Given the description of an element on the screen output the (x, y) to click on. 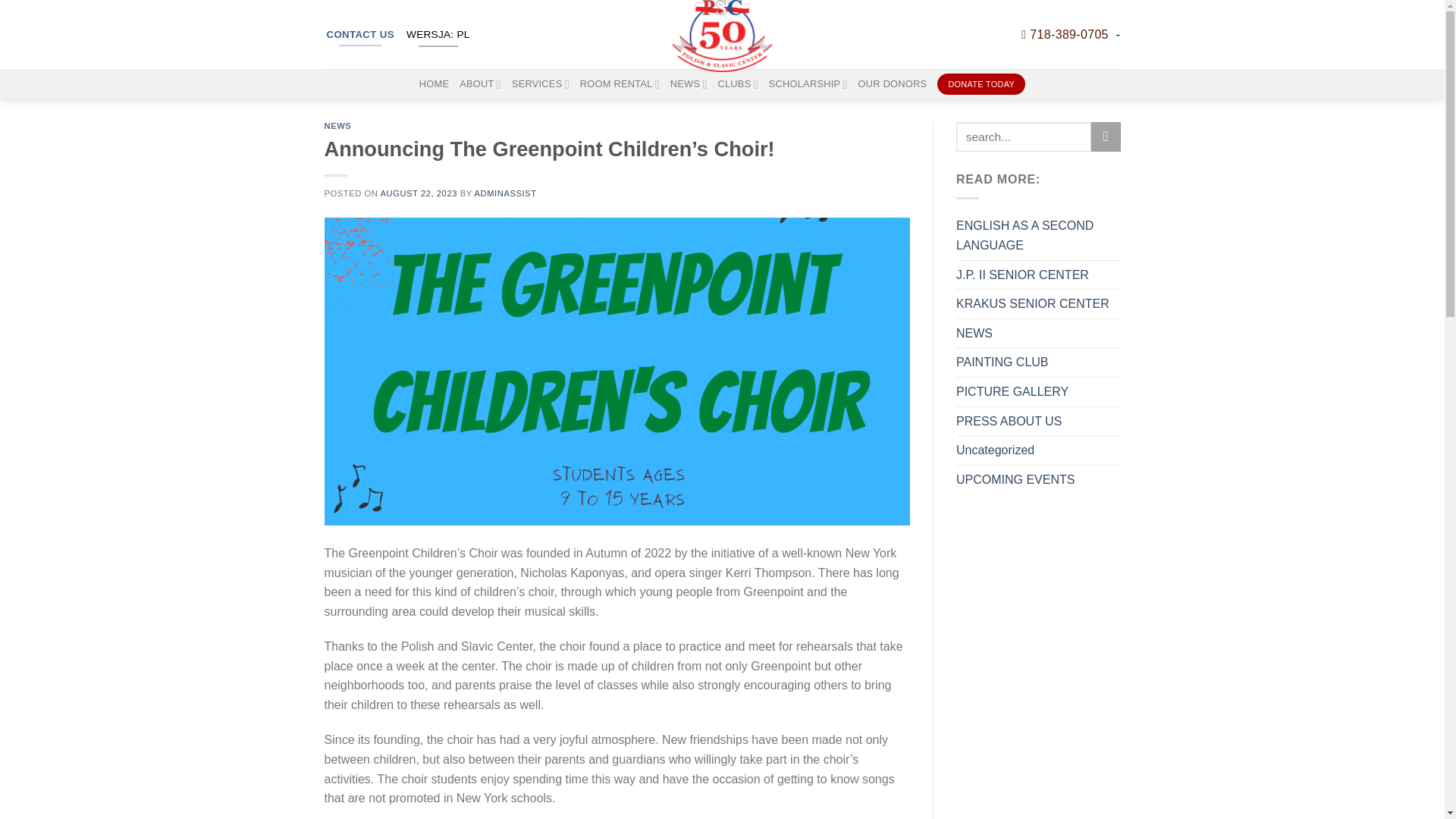
ABOUT (480, 83)
SERVICES (540, 83)
ROOM RENTAL (619, 83)
718-389-0705 (1065, 34)
CLUBS (737, 83)
WERSJA: PL (437, 33)
718-389-0705 (1065, 34)
HOME (433, 83)
SCHOLARSHIP (807, 83)
NEWS (688, 83)
